Given the description of an element on the screen output the (x, y) to click on. 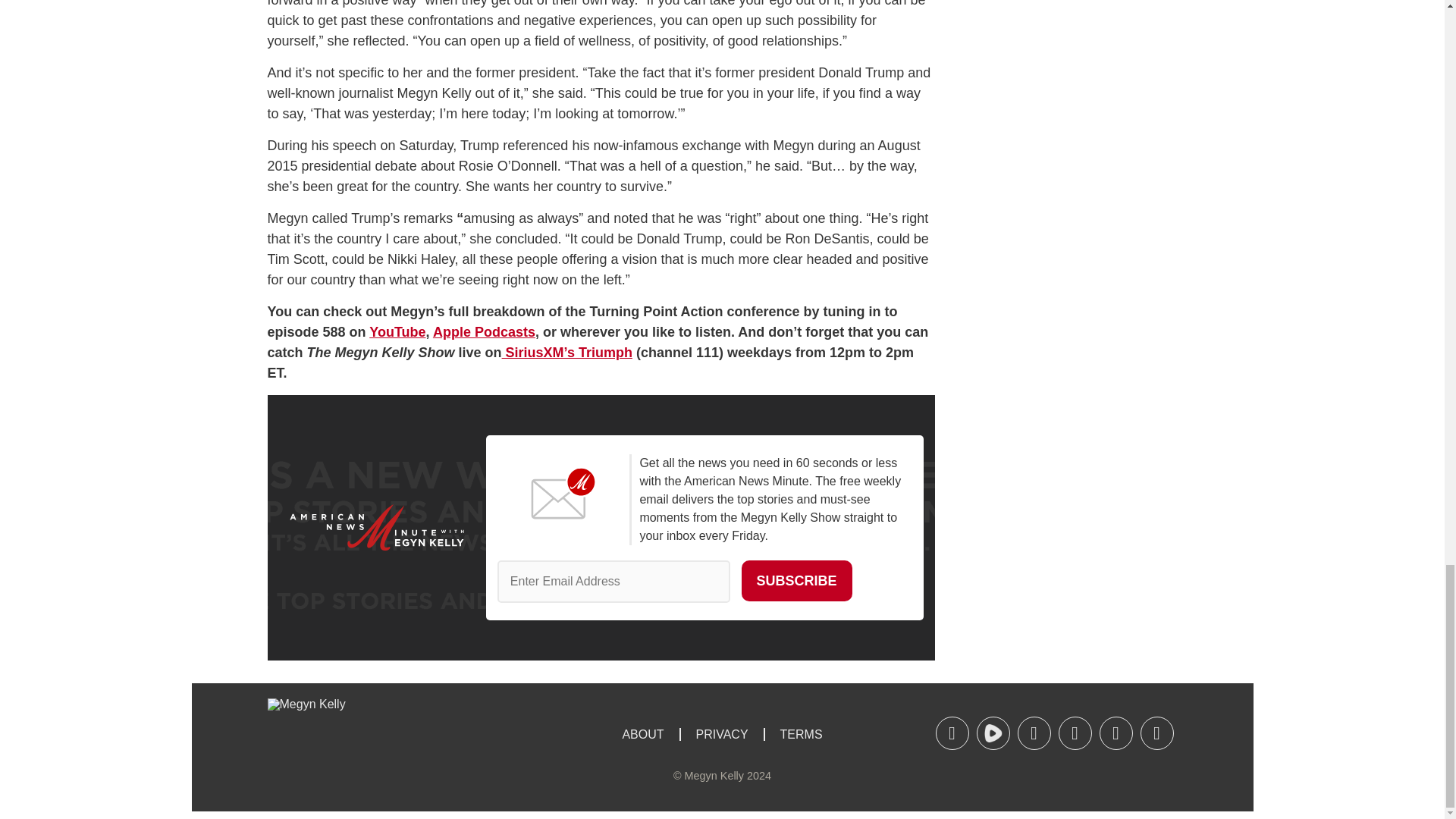
Apple Podcasts (483, 331)
Terms of Service (800, 734)
Subscribe (796, 580)
YouTube (397, 331)
Subscribe (796, 580)
Privacy Policy (720, 734)
